Given the description of an element on the screen output the (x, y) to click on. 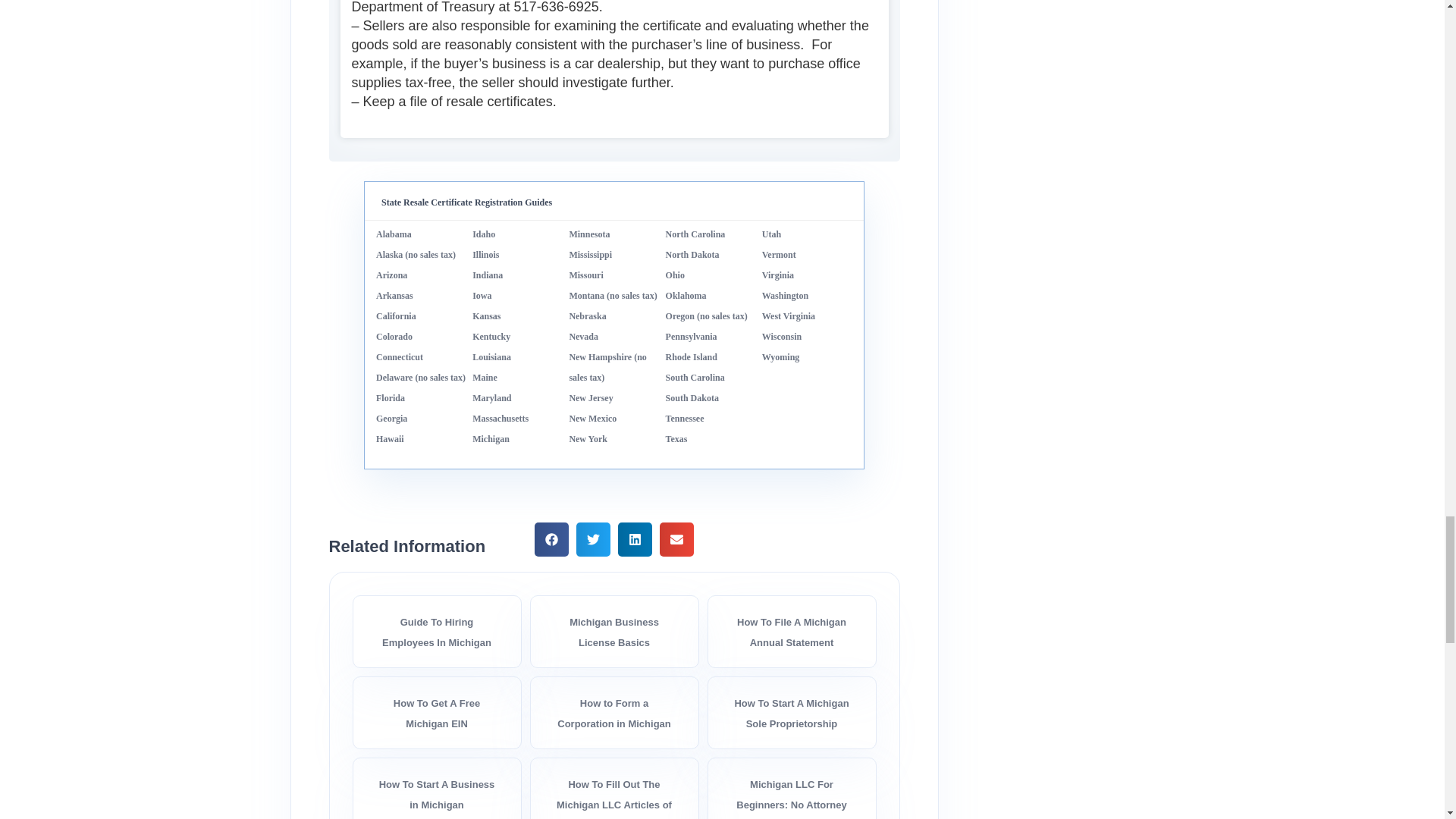
Alabama (393, 234)
Connecticut (399, 357)
Arkansas (394, 295)
Florida (389, 398)
Arizona (391, 275)
Colorado (393, 336)
California (395, 316)
